Given the description of an element on the screen output the (x, y) to click on. 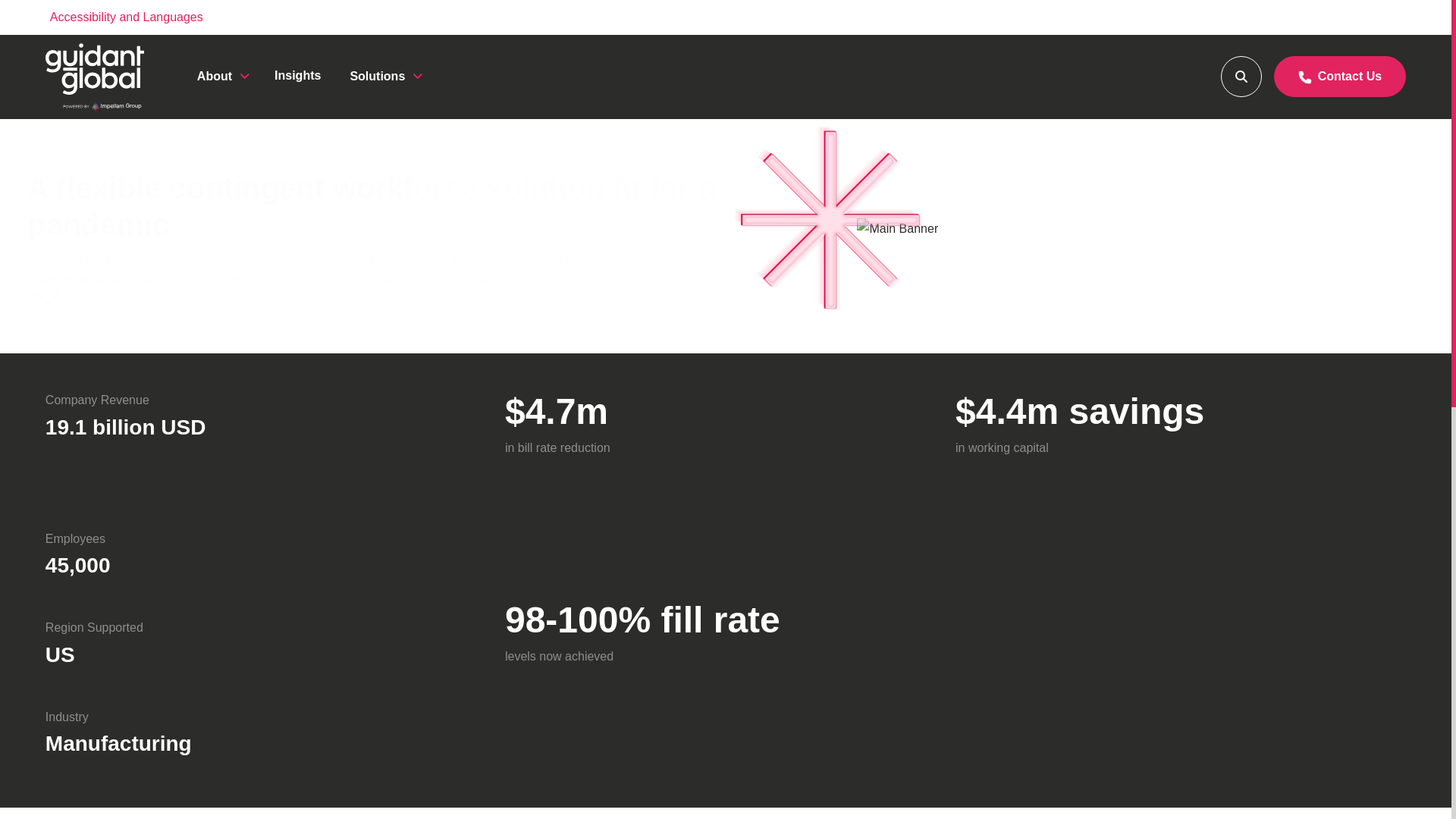
About (221, 76)
Solutions (384, 76)
Contact Us (1340, 76)
Insights (297, 74)
Accessibility and Languages (126, 16)
Guidant Global (94, 76)
